Given the description of an element on the screen output the (x, y) to click on. 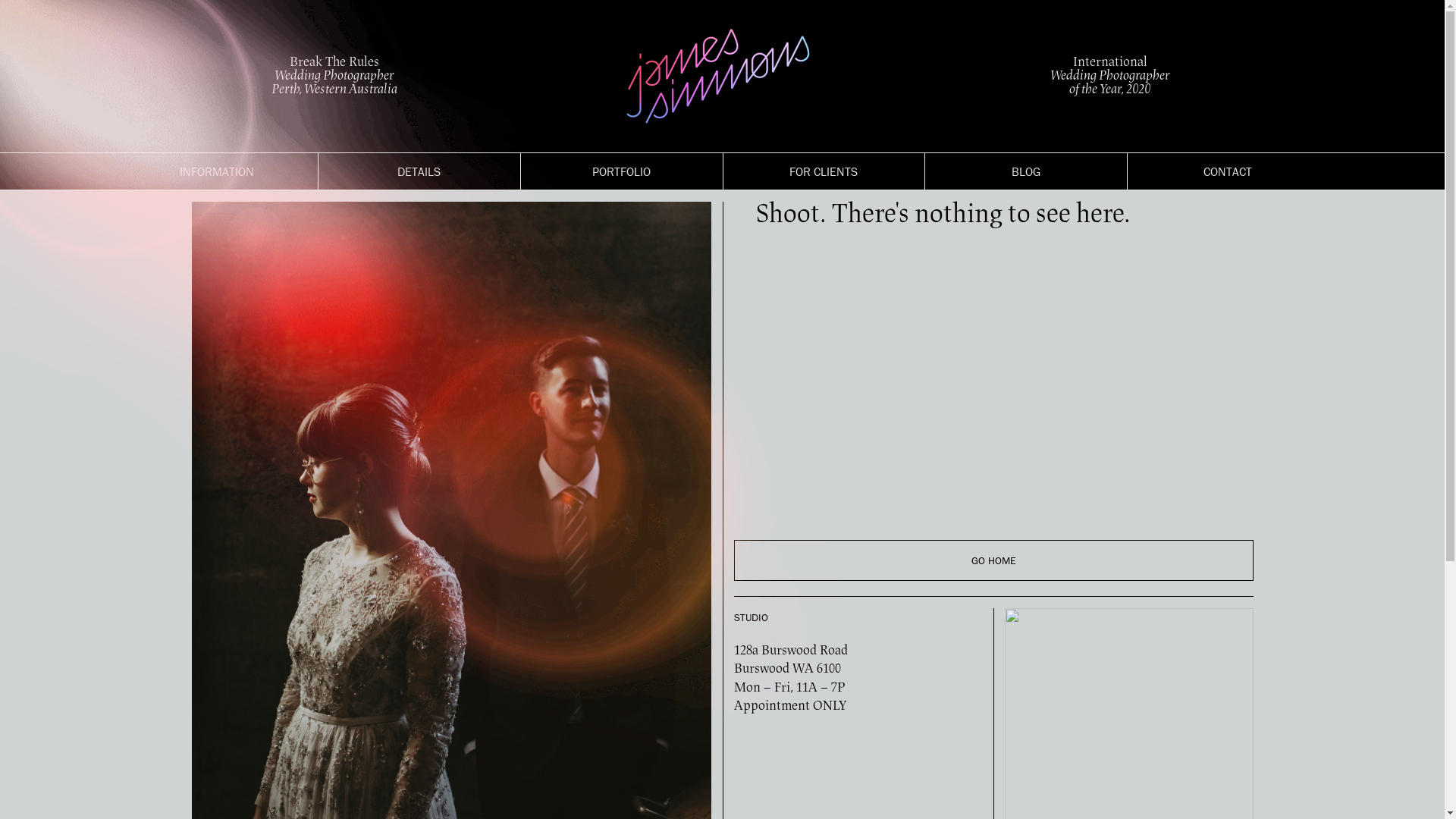
DETAILS Element type: text (418, 171)
FOR CLIENTS Element type: text (823, 171)
GO HOME Element type: text (993, 559)
INFORMATION Element type: text (216, 171)
CONTACT Element type: text (1227, 171)
BLOG Element type: text (1025, 171)
PORTFOLIO Element type: text (621, 171)
